Given the description of an element on the screen output the (x, y) to click on. 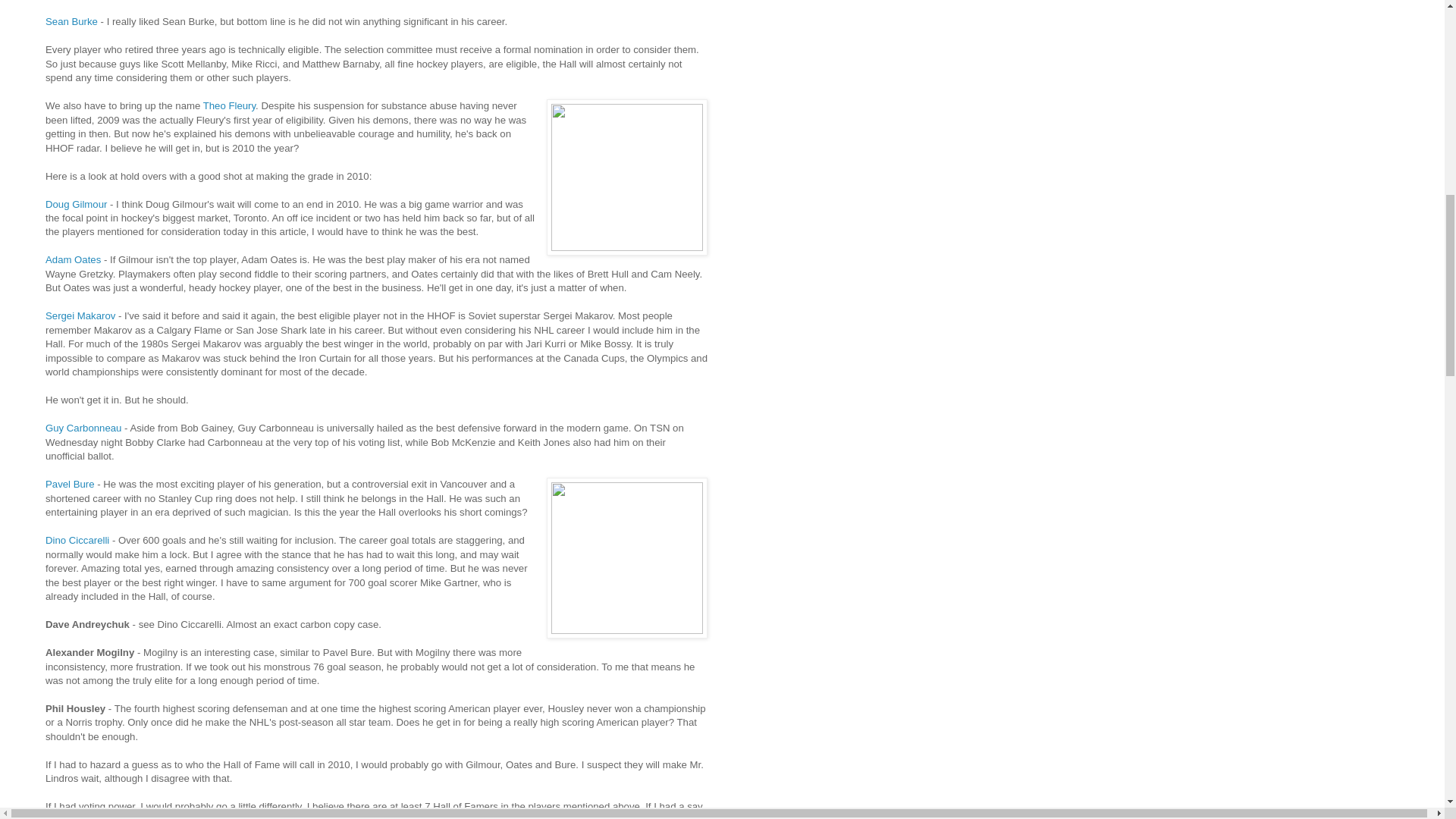
Doug Gilmour (75, 204)
Sean Burke (71, 21)
Adam Oates (72, 259)
Theo Fleury (229, 105)
